Given the description of an element on the screen output the (x, y) to click on. 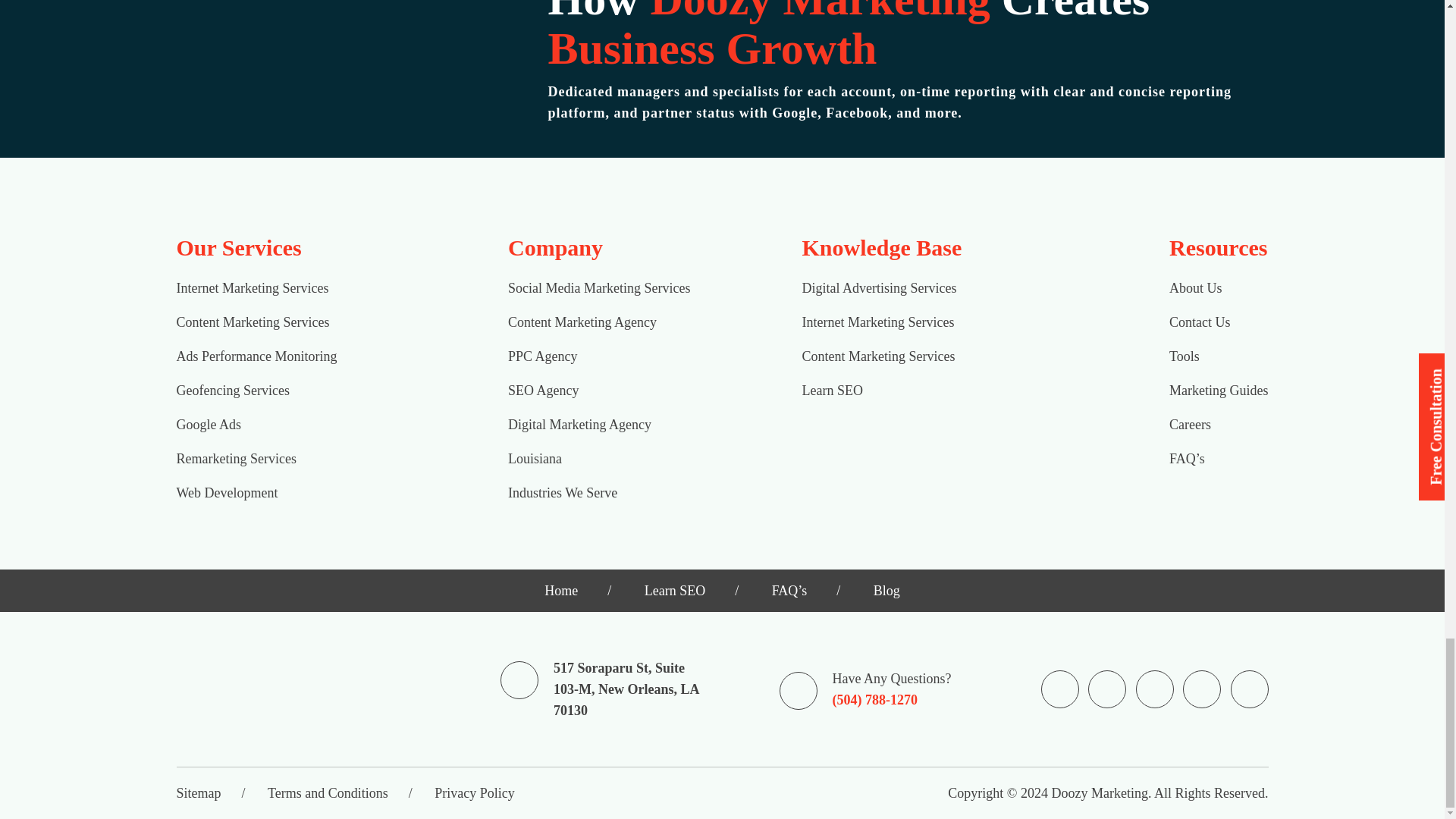
instagram (1106, 688)
growth-img (319, 82)
footer-logo (276, 689)
facebook (1059, 688)
twitter (1154, 688)
